Given the description of an element on the screen output the (x, y) to click on. 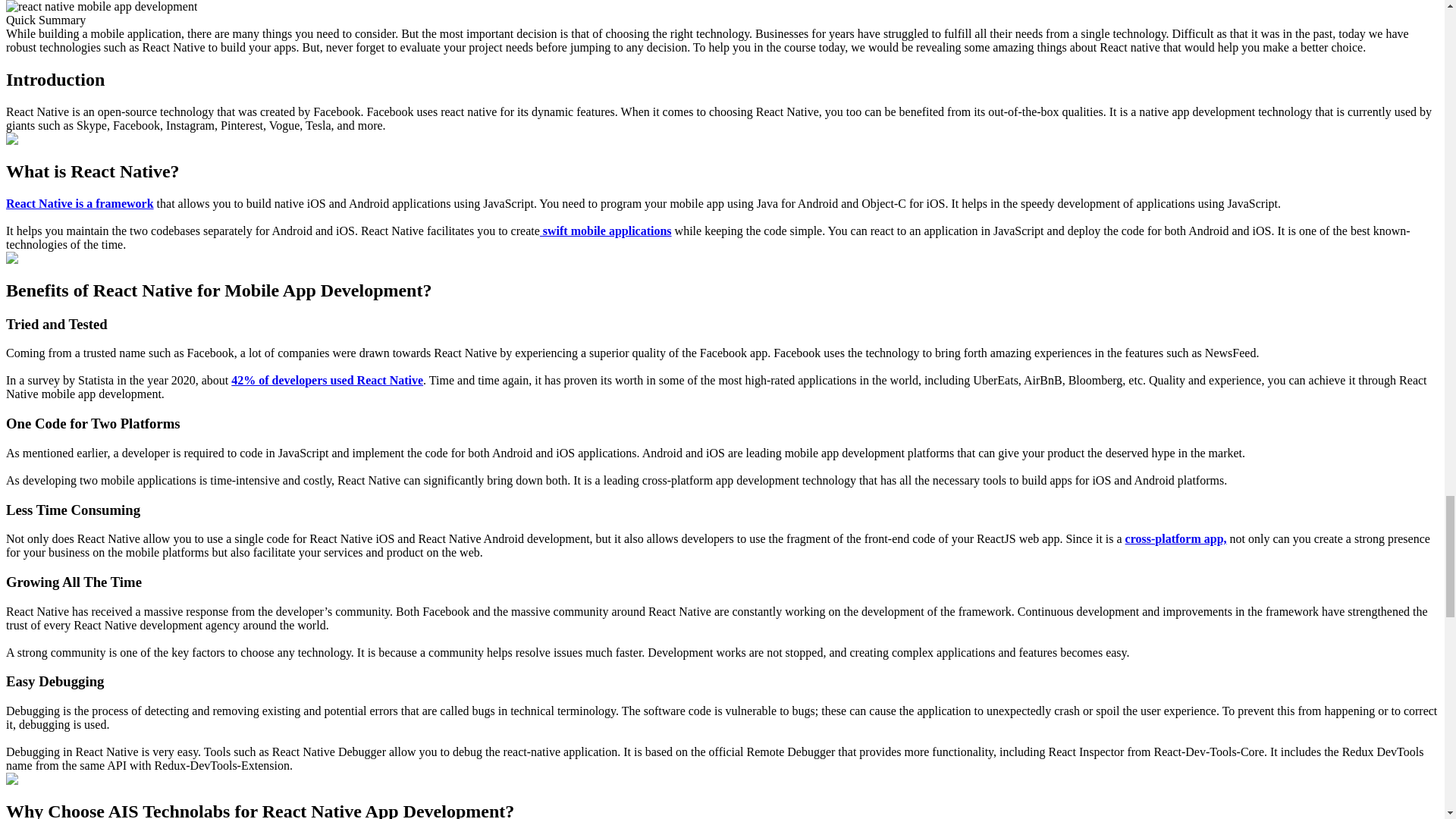
Why Choose Ais Technolabs (76, 779)
Benefits of React Native for Mobile App Development? (60, 258)
Choosing React Native Mobile App Development (100, 6)
What is Recat Native (43, 139)
